Given the description of an element on the screen output the (x, y) to click on. 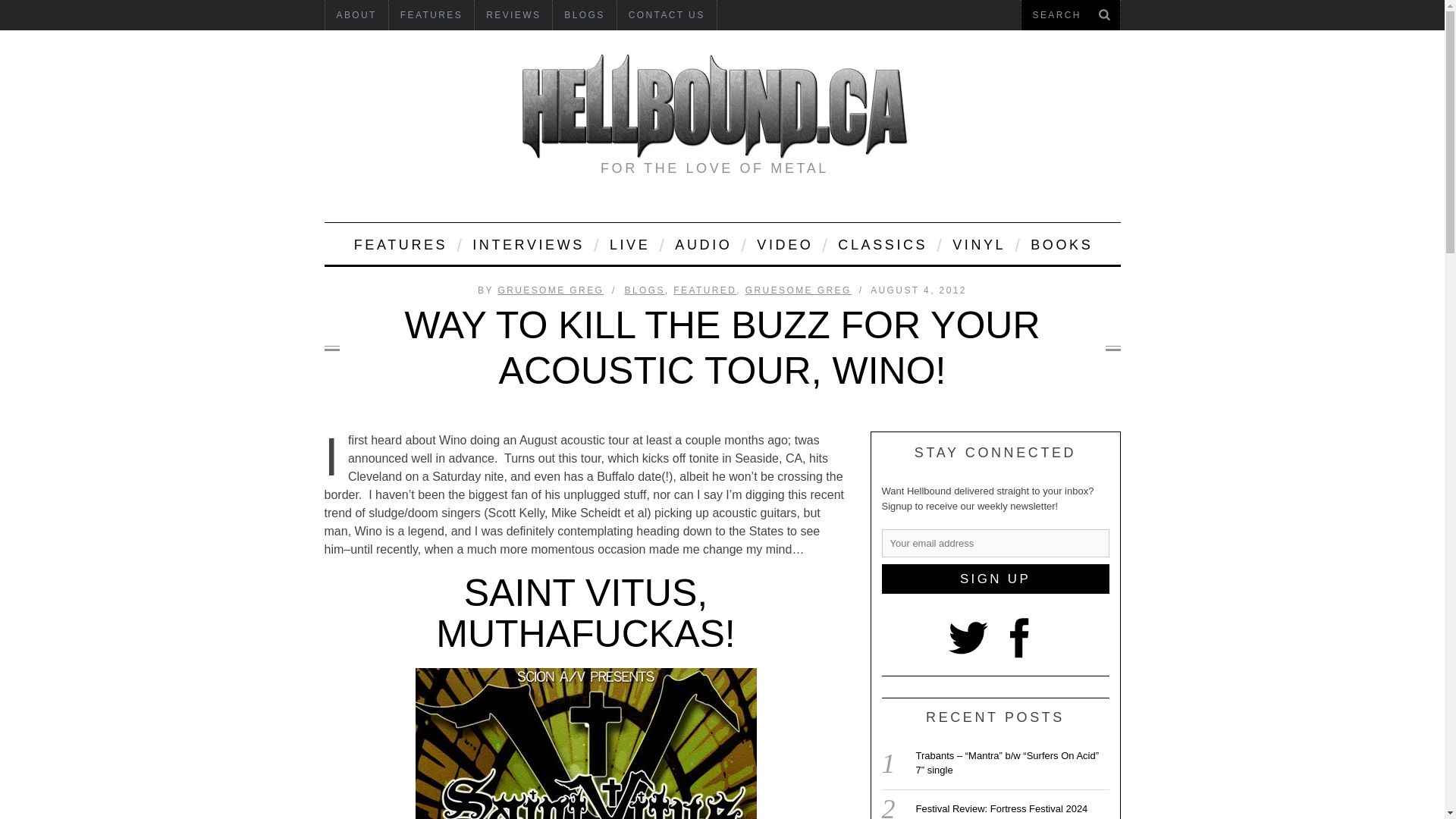
BLOGS (584, 14)
Search (1070, 15)
Hellbound.ca - FOR THE LOVE OF METAL (714, 106)
INTERVIEWS (527, 243)
FEATURES (431, 14)
FEATURES (399, 243)
Sign up (994, 578)
LIVE (628, 243)
ABOUT (355, 14)
CONTACT US (666, 14)
